Given the description of an element on the screen output the (x, y) to click on. 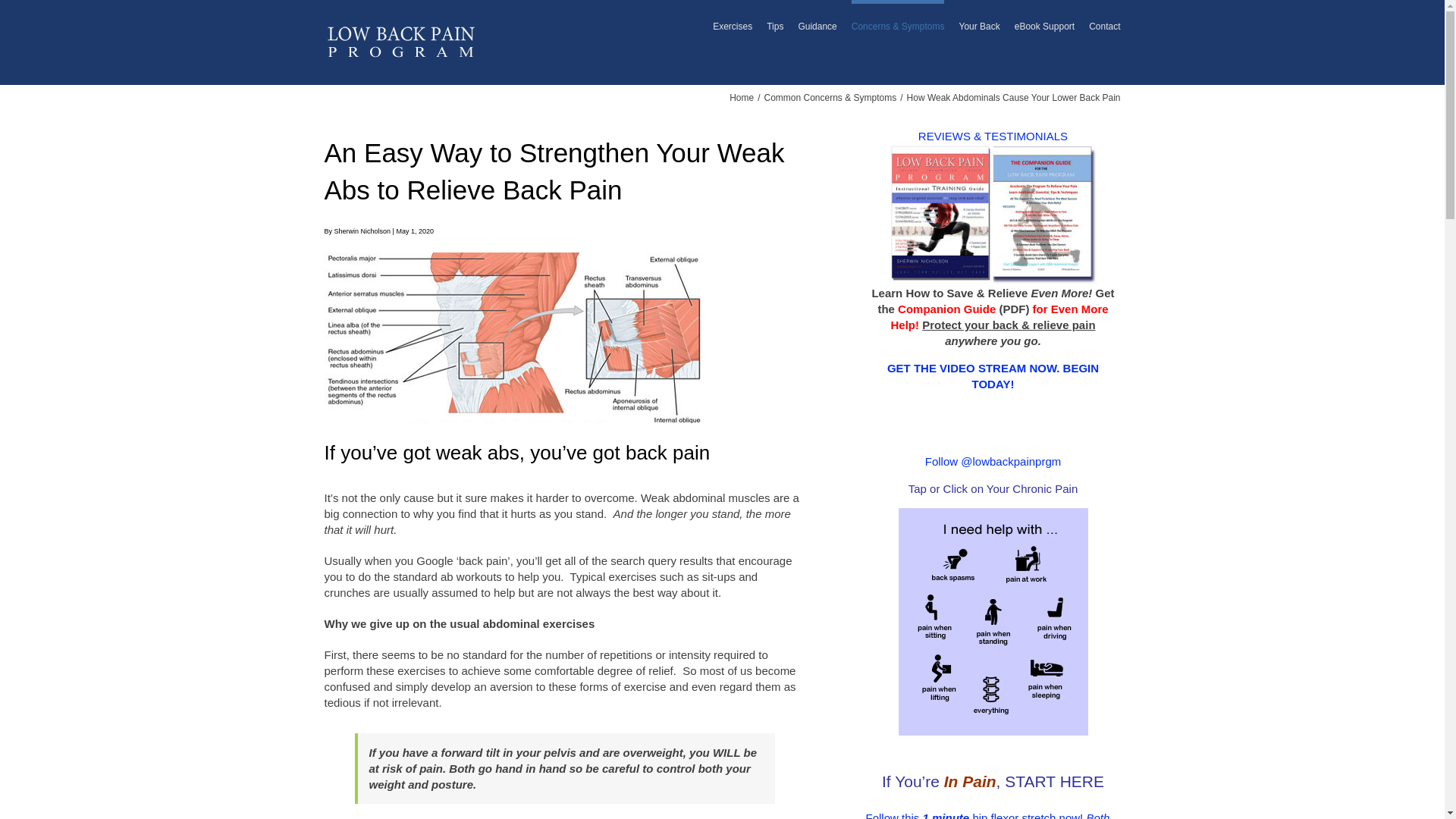
Tips (775, 24)
Contact (1104, 24)
Exercises (732, 24)
eBook Support (1044, 24)
Home (741, 97)
Guidance (816, 24)
Your Back (978, 24)
